Given the description of an element on the screen output the (x, y) to click on. 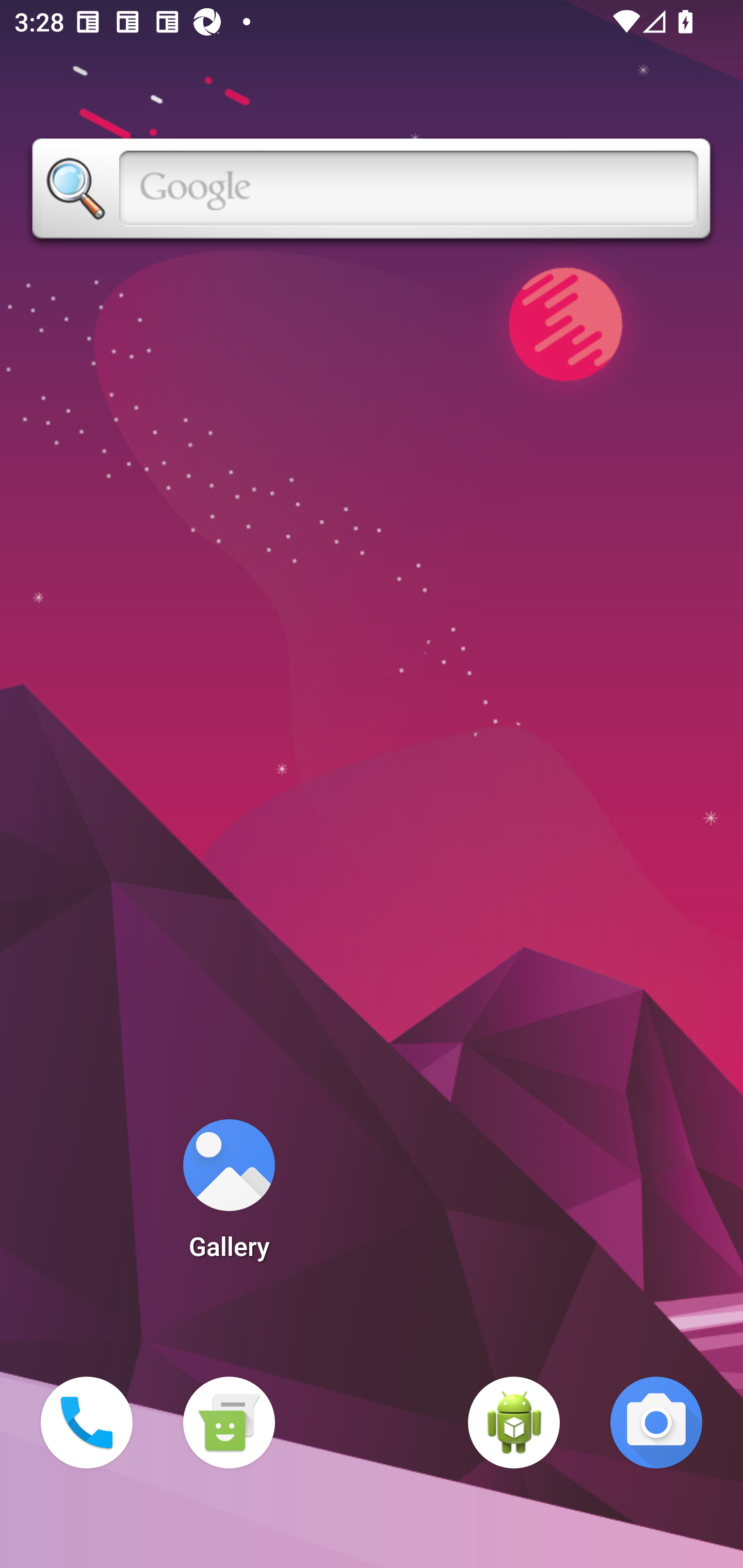
Gallery (228, 1195)
Phone (86, 1422)
Messaging (228, 1422)
WebView Browser Tester (513, 1422)
Camera (656, 1422)
